Given the description of an element on the screen output the (x, y) to click on. 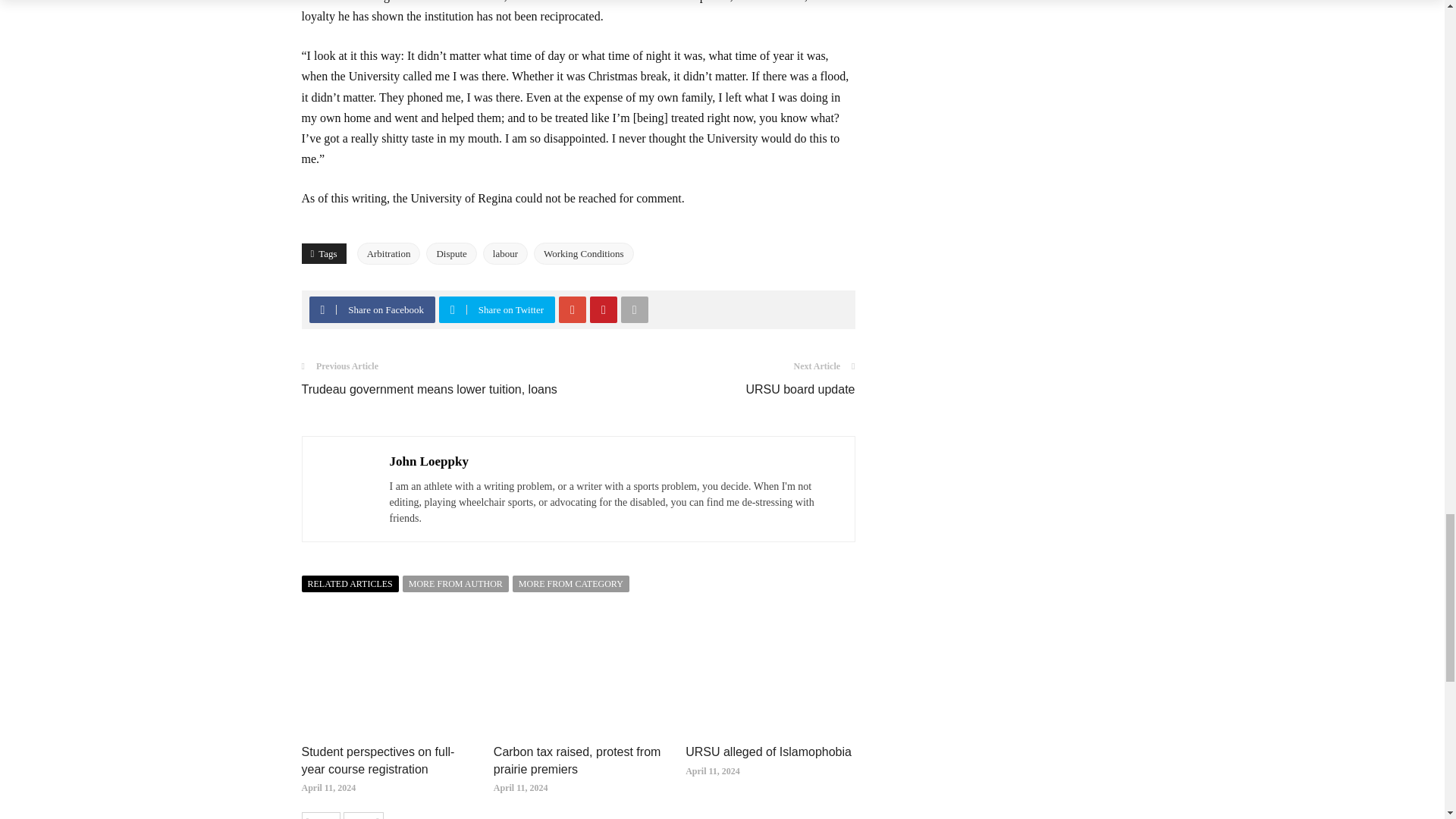
View all posts tagged Working Conditions (583, 253)
View all posts tagged labour (505, 253)
View all posts tagged Arbitration (388, 253)
View all posts tagged Dispute (451, 253)
